Given the description of an element on the screen output the (x, y) to click on. 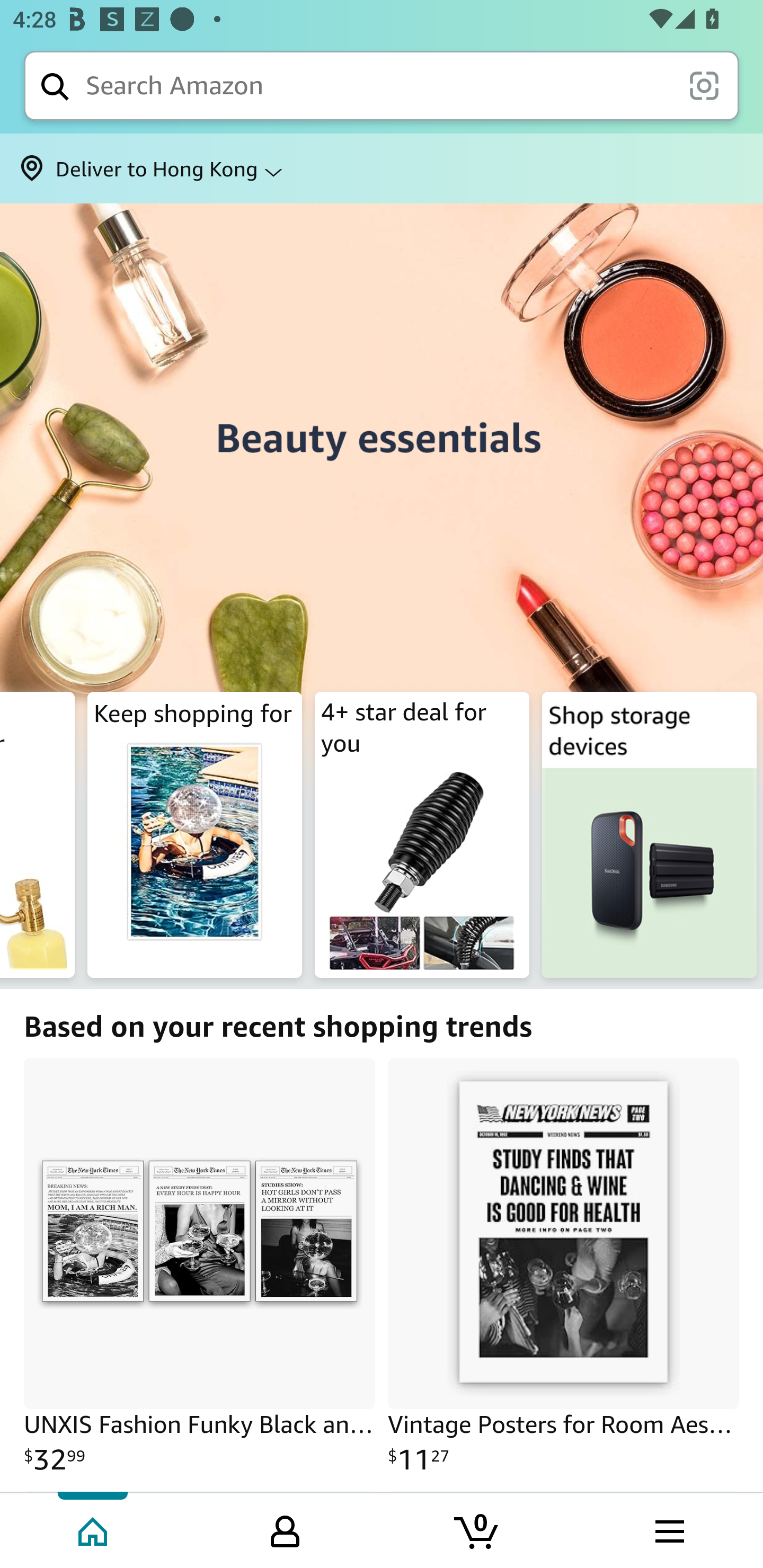
Search Search Search Amazon scan it (381, 85)
scan it (704, 85)
Deliver to Hong Kong ⌵ (381, 168)
Shop Beauty (381, 444)
Shop storage devices  Shop storage devices    (648, 834)
Your Amazon.com Tab 2 of 4 (285, 1529)
Cart 0 item Tab 3 of 4 0 (477, 1529)
Browse menu Tab 4 of 4 (668, 1529)
